Given the description of an element on the screen output the (x, y) to click on. 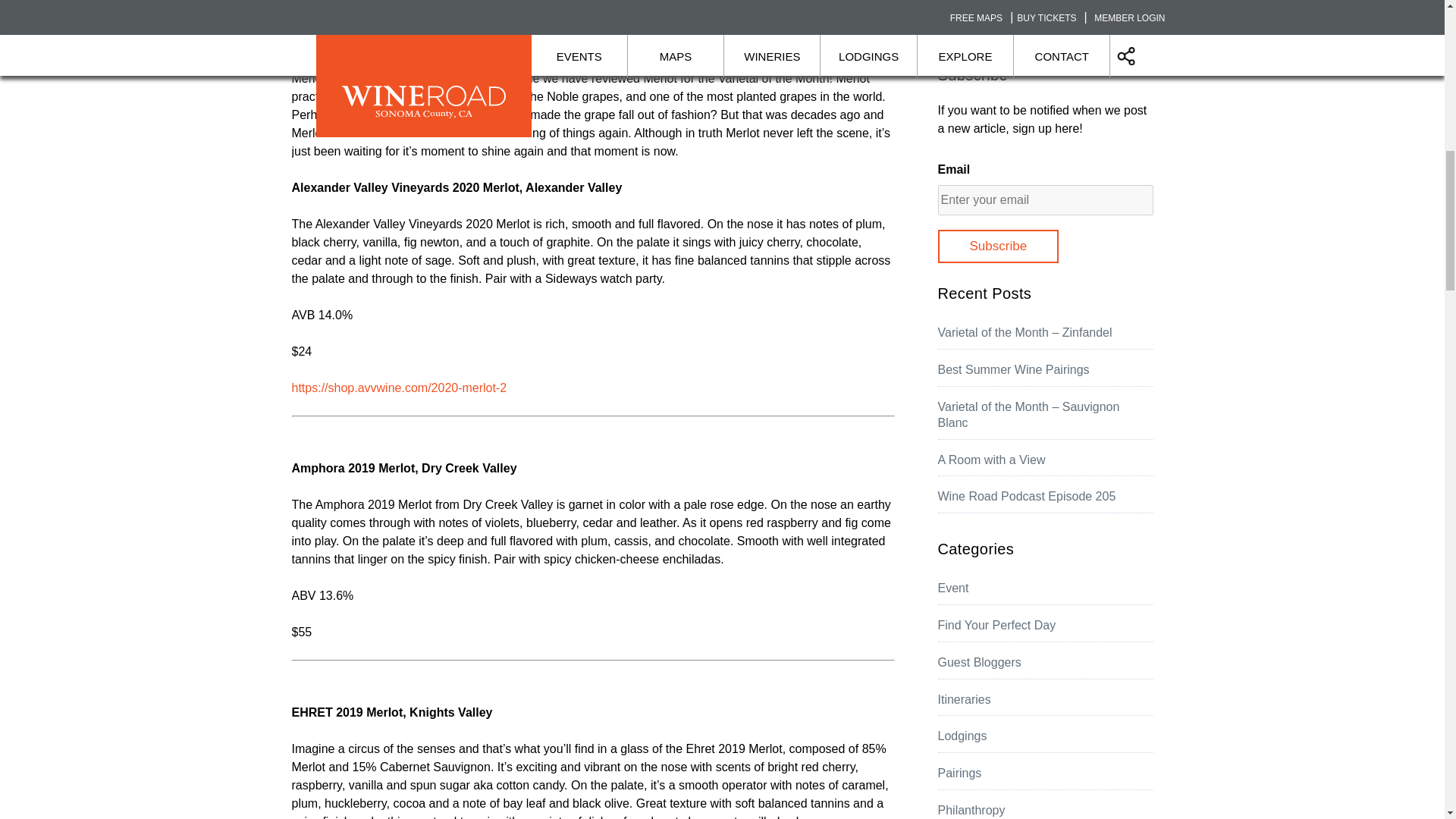
Facebook (305, 39)
X (336, 39)
Subscribe (997, 246)
